Given the description of an element on the screen output the (x, y) to click on. 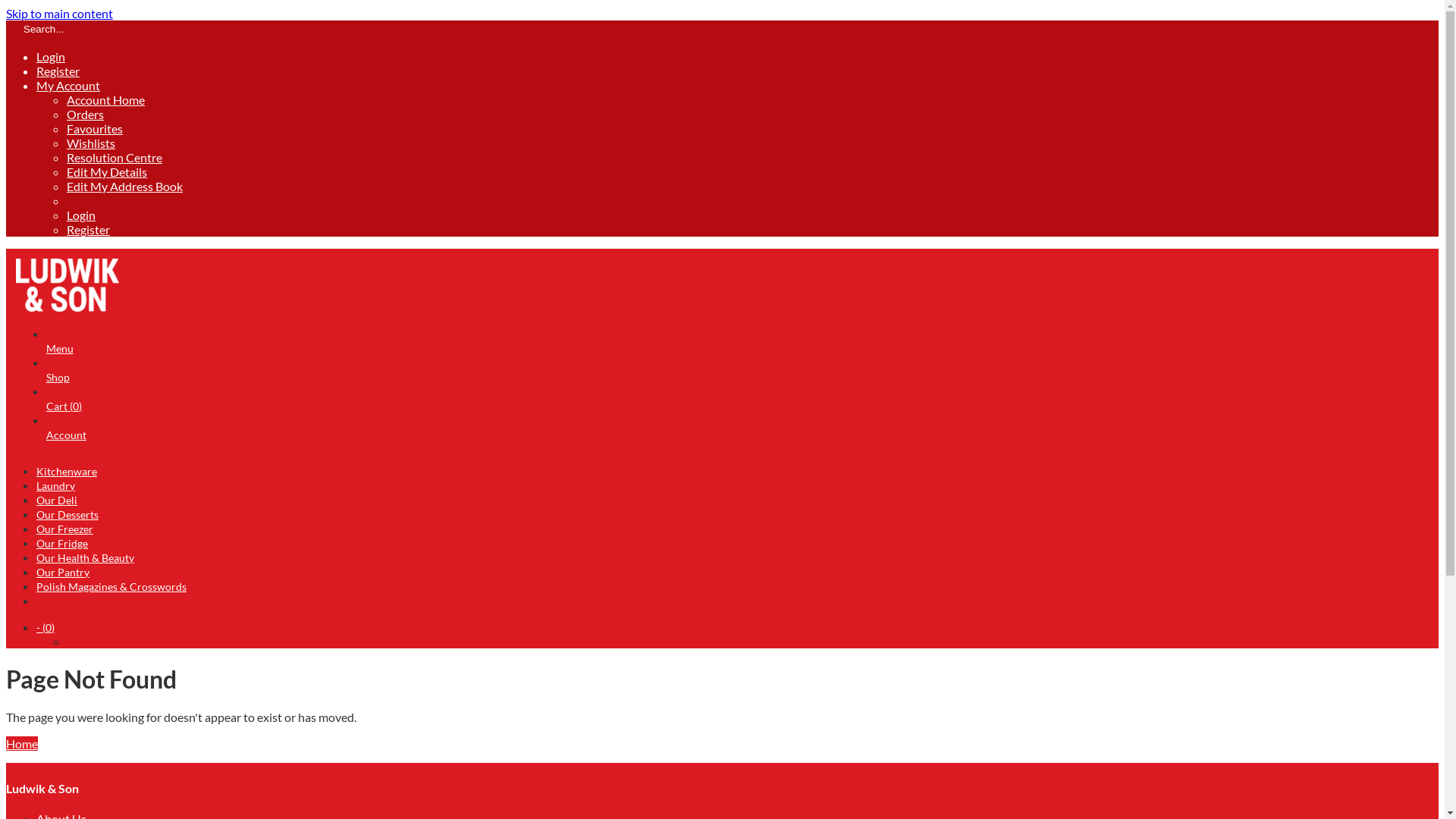
Account Element type: text (66, 441)
Our Desserts Element type: text (67, 514)
Wishlists Element type: text (90, 142)
Register Element type: text (87, 229)
Laundry Element type: text (55, 485)
Cart (0) Element type: text (63, 412)
Login Element type: text (80, 214)
Orders Element type: text (84, 113)
Kitchenware Element type: text (66, 470)
Our Pantry Element type: text (62, 571)
Edit My Address Book Element type: text (124, 185)
Our Freezer Element type: text (64, 528)
Our Health & Beauty Element type: text (85, 557)
Home Element type: text (21, 743)
My Account Element type: text (68, 85)
Menu Element type: text (59, 355)
Polish Magazines & Crosswords Element type: text (111, 586)
Login Element type: text (50, 56)
- (0) Element type: text (45, 627)
Search Element type: text (12, 32)
Shop Element type: text (57, 384)
Favourites Element type: text (94, 128)
Edit My Details Element type: text (106, 171)
Account Home Element type: text (105, 99)
Skip to main content Element type: text (59, 13)
Our Fridge Element type: text (61, 542)
Our Deli Element type: text (56, 499)
Resolution Centre Element type: text (114, 157)
Register Element type: text (57, 70)
